Given the description of an element on the screen output the (x, y) to click on. 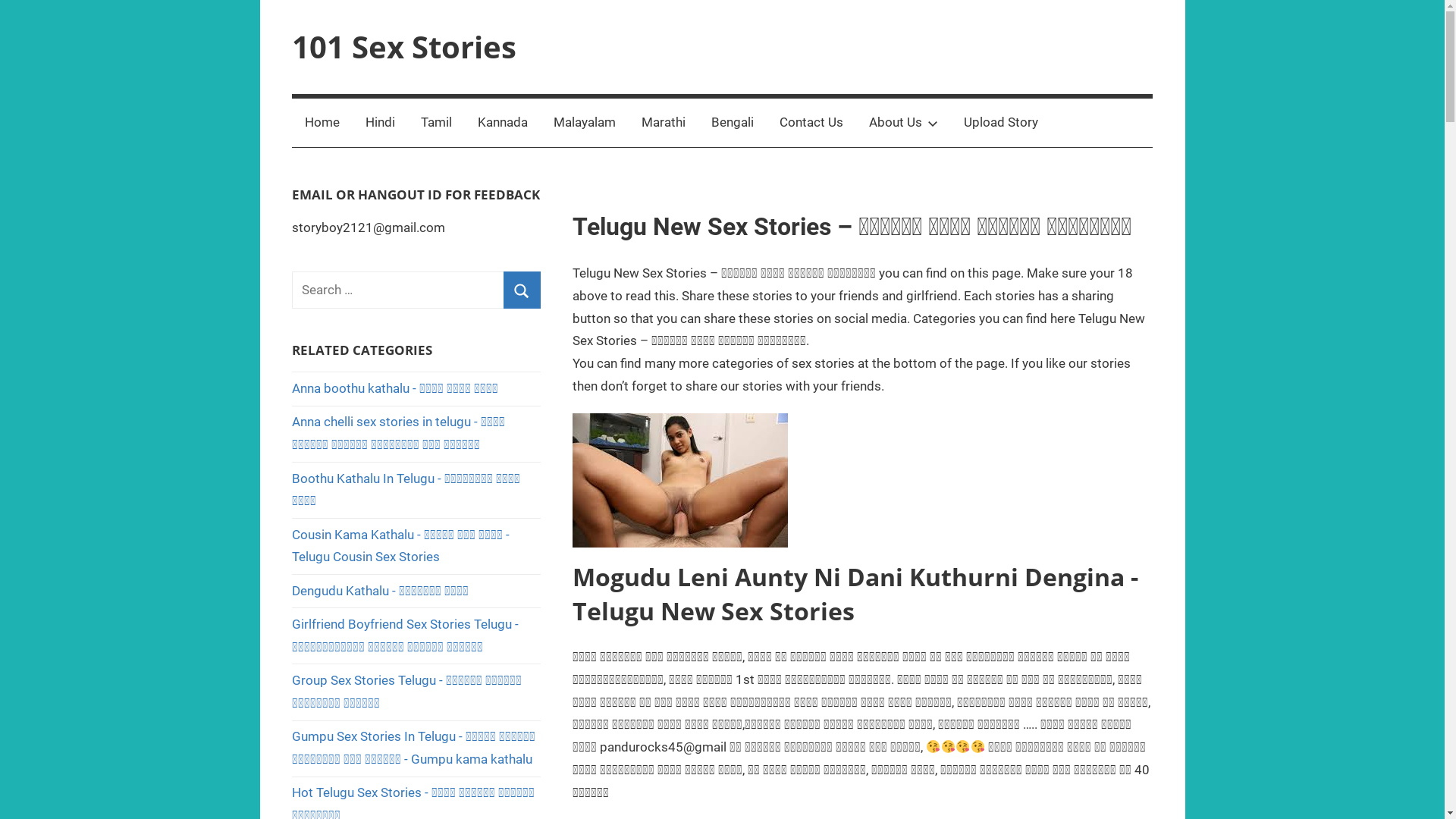
Tamil Element type: text (435, 122)
About Us Element type: text (903, 122)
Kannada Element type: text (502, 122)
Bengali Element type: text (732, 122)
Malayalam Element type: text (584, 122)
Skip to content Element type: text (0, 0)
Search for: Element type: hover (415, 289)
Contact Us Element type: text (811, 122)
Upload Story Element type: text (1000, 122)
Hindi Element type: text (379, 122)
101 Sex Stories Element type: text (403, 46)
Marathi Element type: text (663, 122)
Home Element type: text (321, 122)
